Given the description of an element on the screen output the (x, y) to click on. 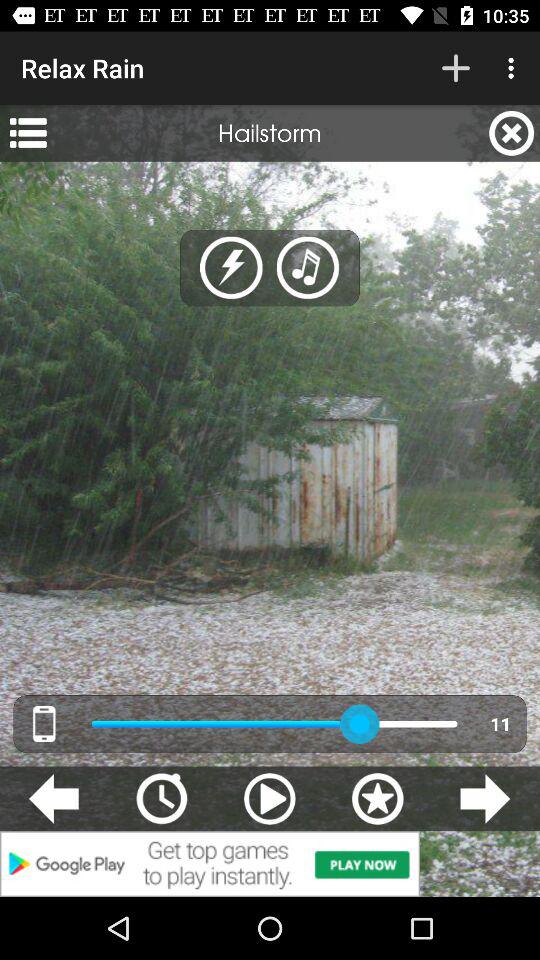
turn on the item to the right of relax rain icon (455, 67)
